Given the description of an element on the screen output the (x, y) to click on. 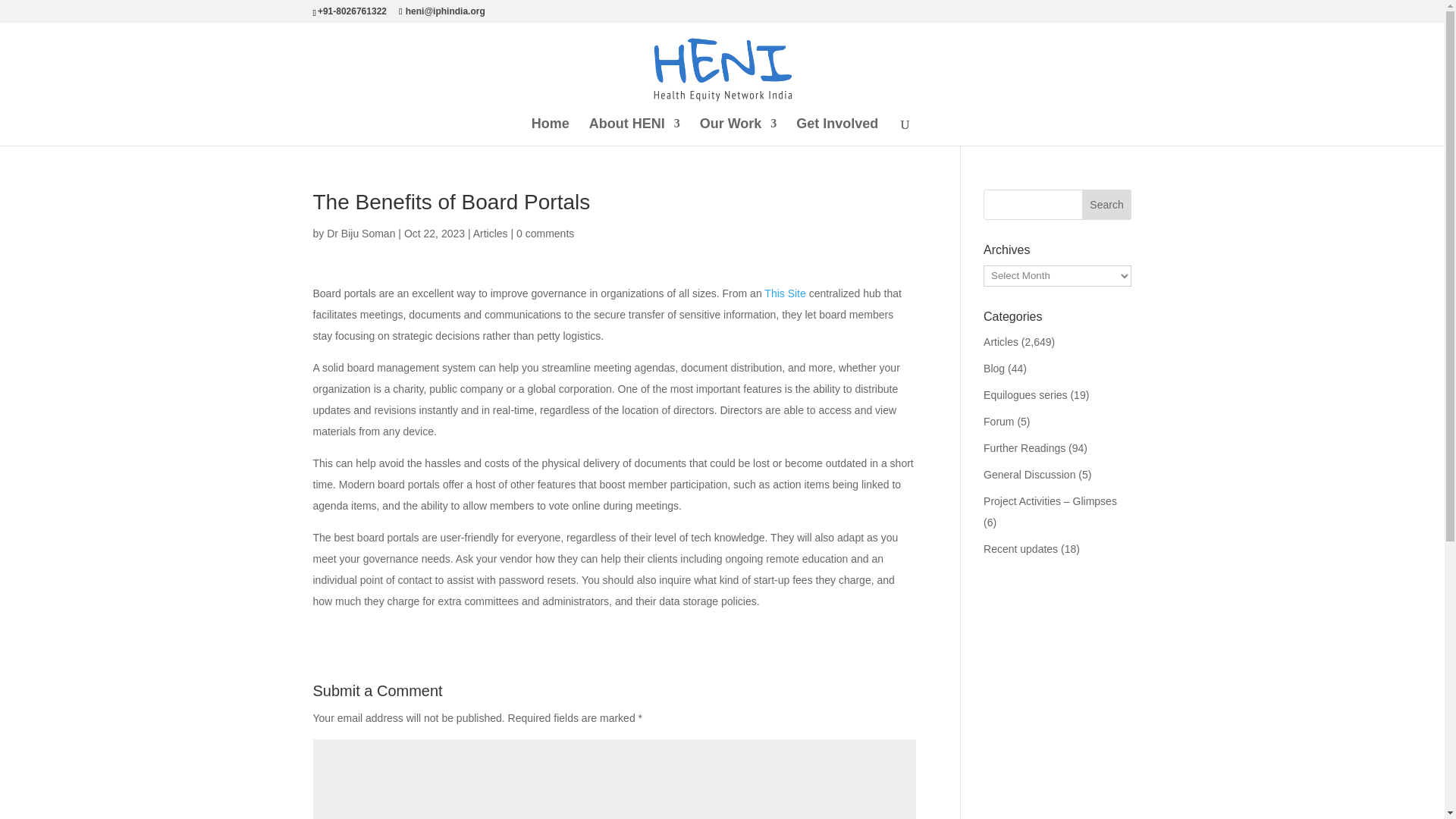
Home (550, 131)
Further Readings (1024, 448)
Search (1106, 204)
Blog (994, 368)
Search (1106, 204)
Recent updates (1021, 548)
Forum (998, 421)
Posts by Dr Biju Soman (360, 233)
This Site (784, 293)
Our Work (738, 131)
